Given the description of an element on the screen output the (x, y) to click on. 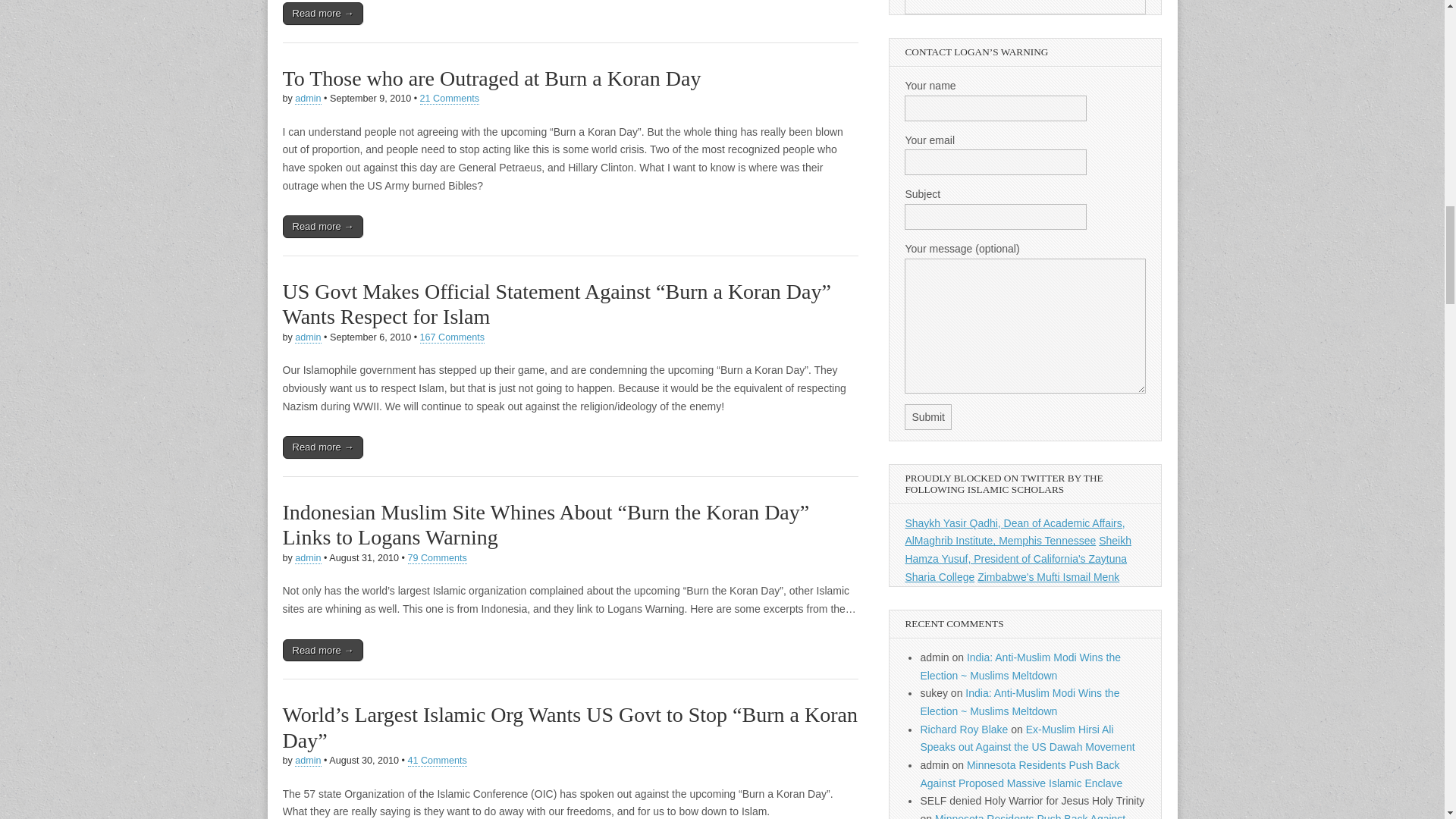
Submit (928, 416)
Posts by admin (307, 558)
admin (307, 337)
Posts by admin (307, 98)
admin (307, 98)
Posts by admin (307, 760)
Posts by admin (307, 337)
21 Comments (449, 98)
To Those who are Outraged at Burn a Koran Day (491, 78)
